Given the description of an element on the screen output the (x, y) to click on. 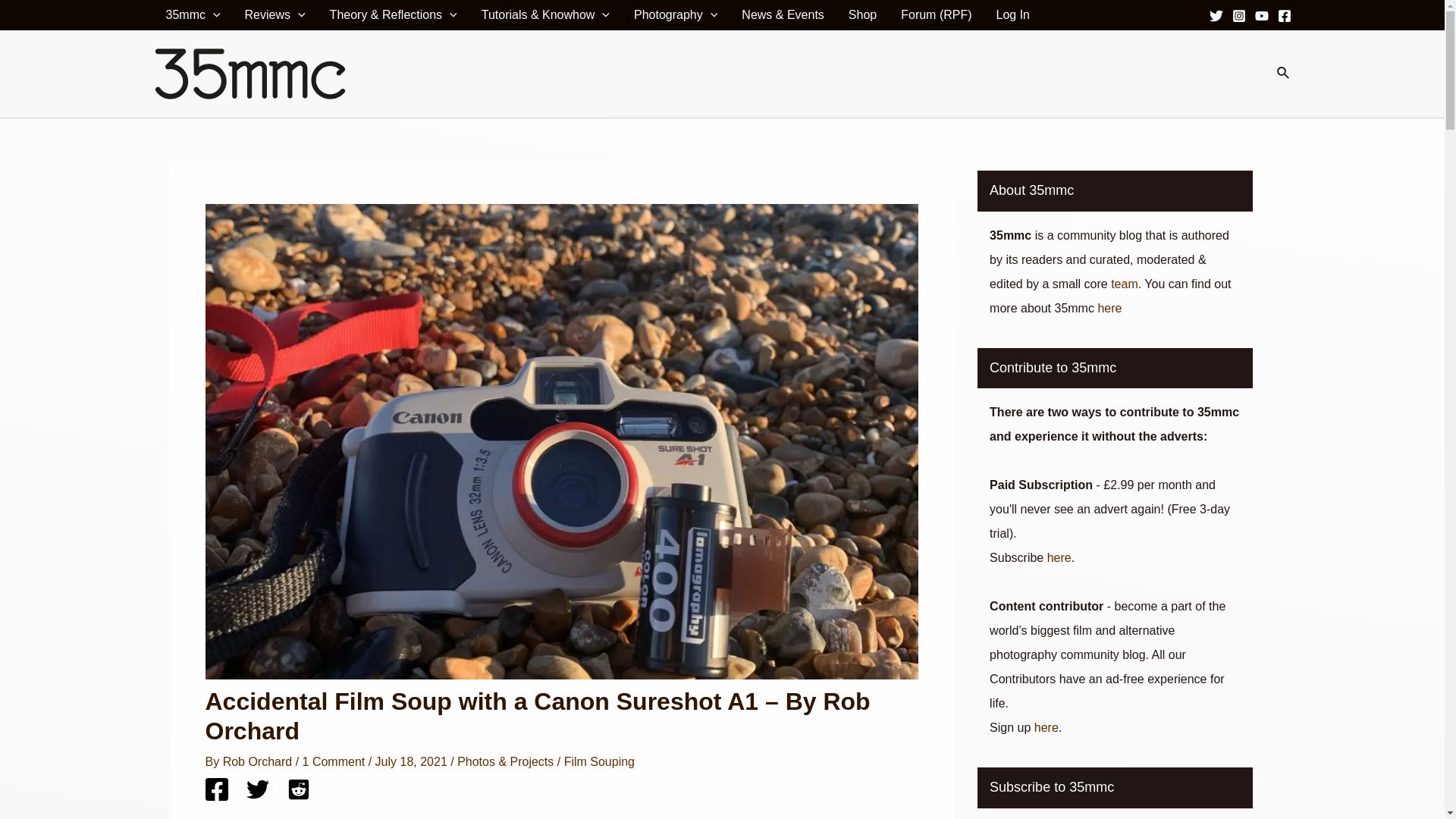
here Element type: text (1109, 307)
Photography Element type: text (675, 15)
here Element type: text (1059, 557)
Film Souping Element type: text (599, 761)
Reviews Element type: text (274, 15)
Theory & Reflections Element type: text (393, 15)
Forum (RPF) Element type: text (935, 15)
Rob Orchard Element type: text (258, 761)
Tutorials & Knowhow Element type: text (545, 15)
Log In Element type: text (1012, 15)
35mmc Element type: text (192, 15)
1 Comment Element type: text (333, 761)
Search Element type: text (1283, 73)
Photos & Projects Element type: text (505, 761)
Shop Element type: text (862, 15)
team Element type: text (1124, 283)
News & Events Element type: text (782, 15)
here Element type: text (1046, 727)
